Given the description of an element on the screen output the (x, y) to click on. 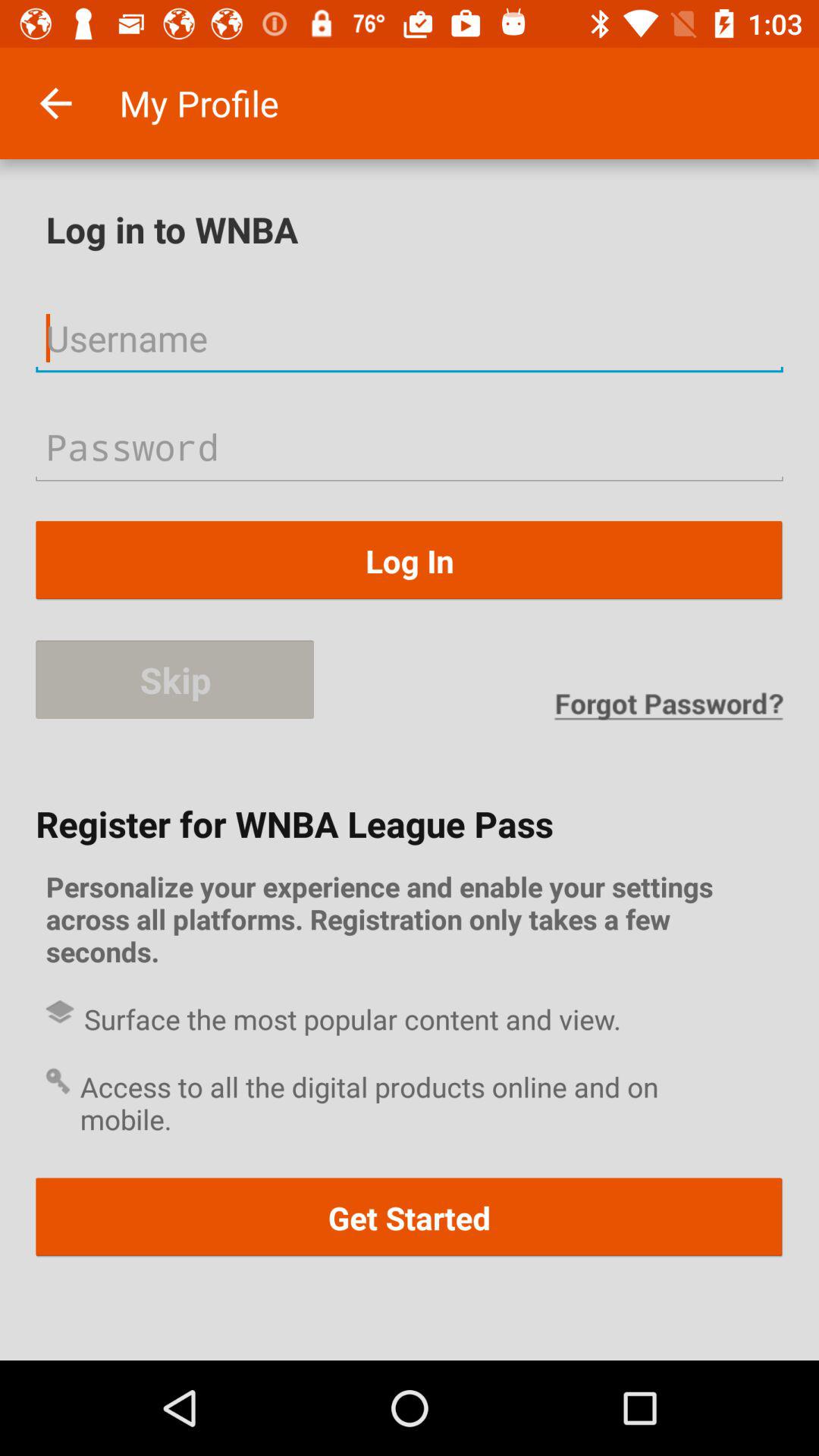
open item next to the skip (668, 706)
